Given the description of an element on the screen output the (x, y) to click on. 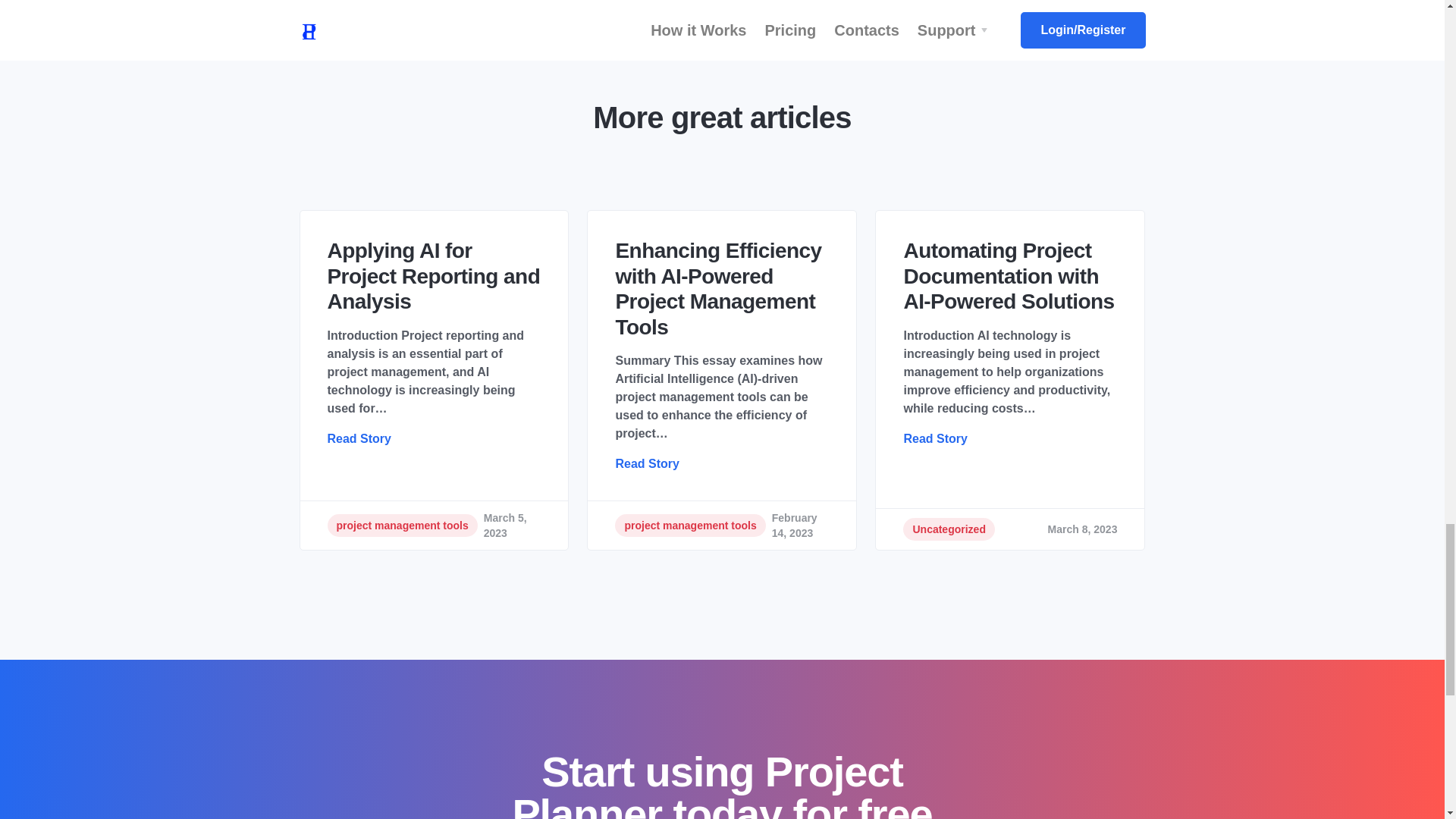
Uncategorized (948, 528)
Automating Project Documentation with AI-Powered Solutions (1009, 276)
Read Story (359, 438)
project management tools (689, 525)
Read Story (934, 438)
Applying AI for Project Reporting and Analysis (434, 276)
project management tools (402, 525)
Read Story (646, 463)
